Given the description of an element on the screen output the (x, y) to click on. 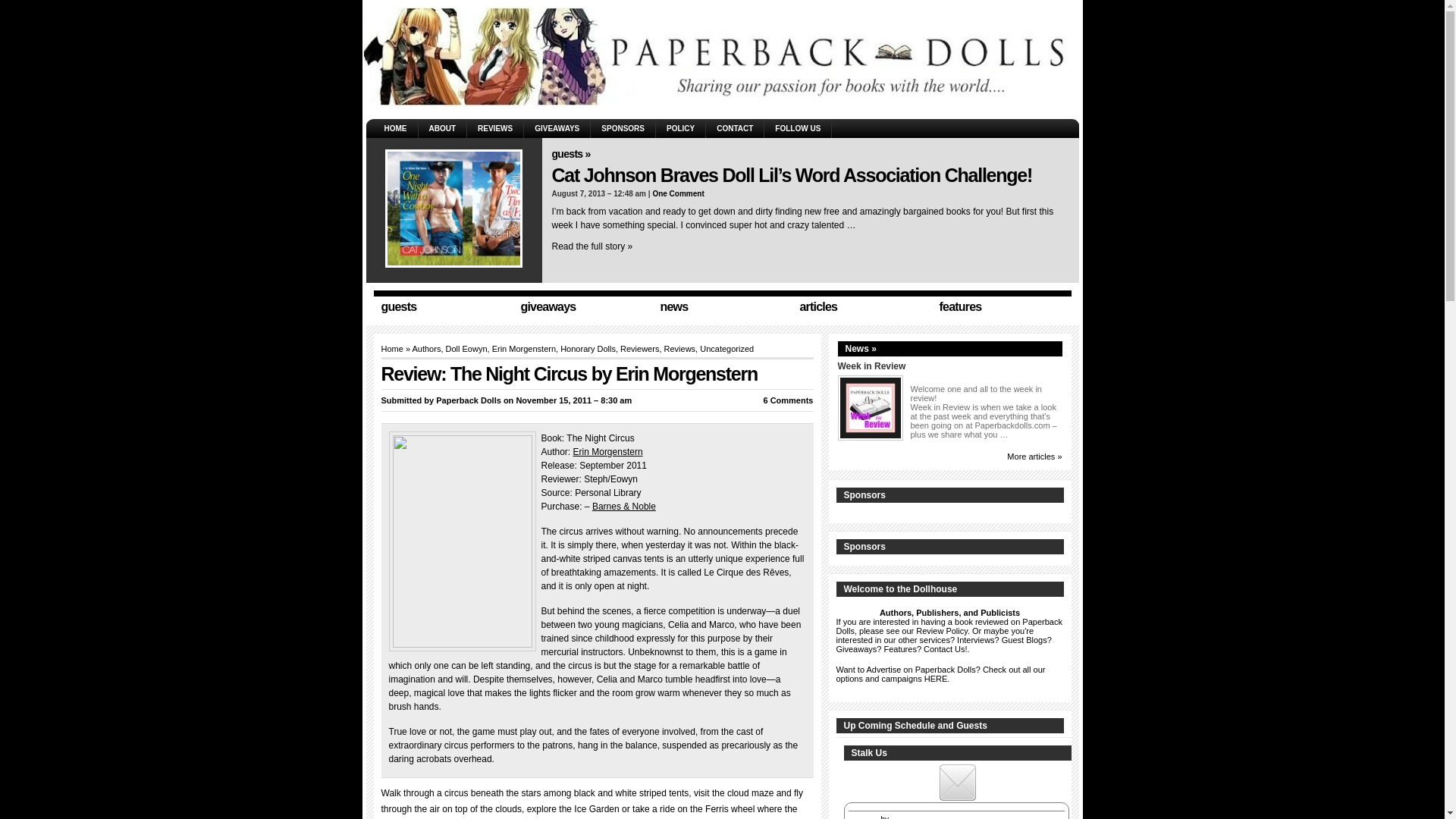
Authors (426, 347)
FOLLOW US (797, 128)
REVIEWS (494, 128)
View all posts in Authors (426, 347)
SPONSORS (623, 128)
View all posts in Reviews (679, 347)
GIVEAWAYS (556, 128)
CONTACT (734, 128)
View all posts in Reviewers (639, 347)
One Comment (677, 193)
View all posts in Erin Morgenstern (524, 347)
POLICY (680, 128)
Erin Morgenstern (524, 347)
Posts by Paperback Dolls (467, 399)
Home (391, 347)
